Given the description of an element on the screen output the (x, y) to click on. 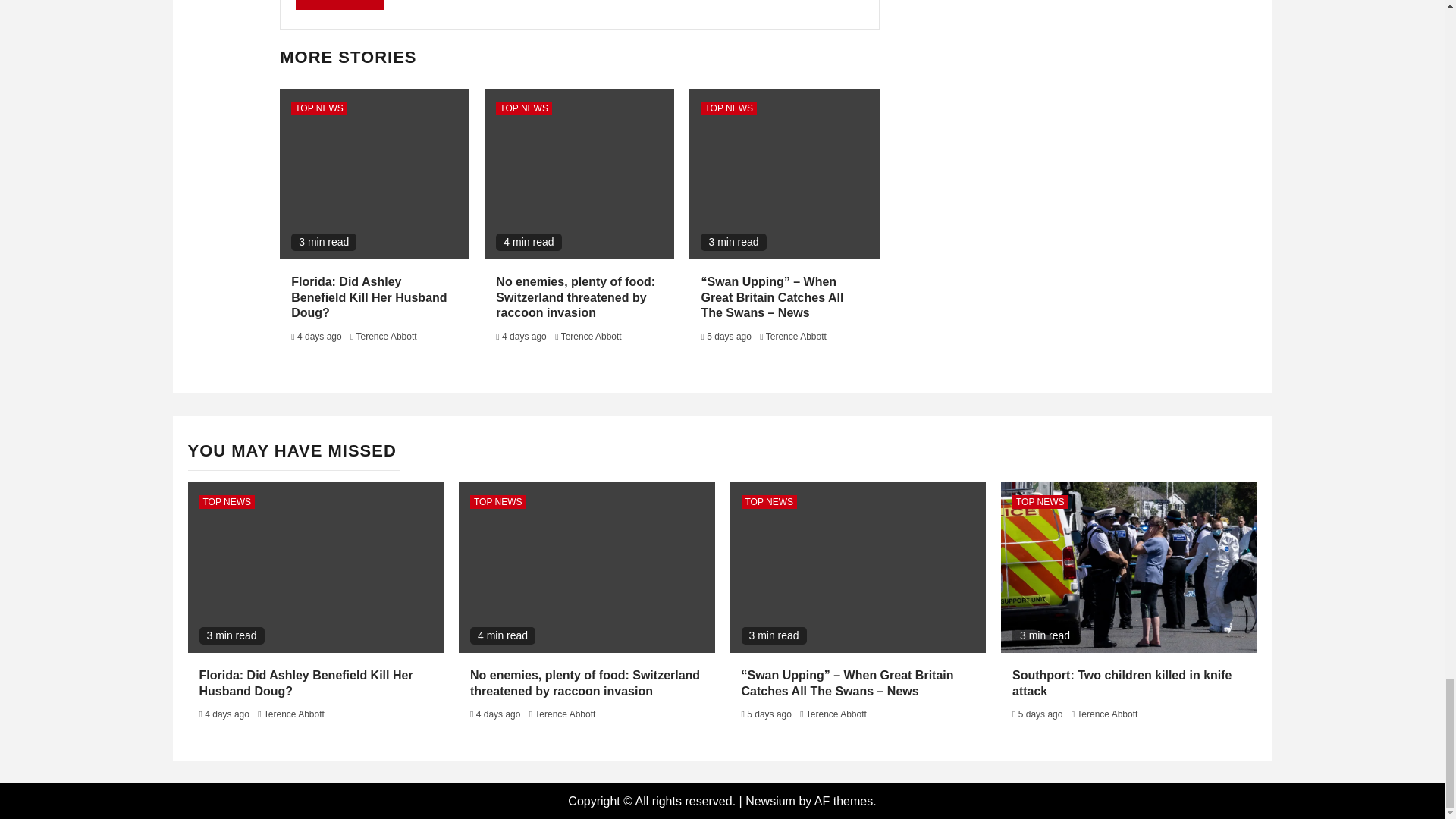
Terence Abbott (386, 336)
TOP NEWS (319, 108)
TOP NEWS (728, 108)
Terence Abbott (590, 336)
Florida: Did Ashley Benefield Kill Her Husband Doug? (368, 297)
Post Comment (339, 4)
Post Comment (339, 4)
TOP NEWS (523, 108)
